Given the description of an element on the screen output the (x, y) to click on. 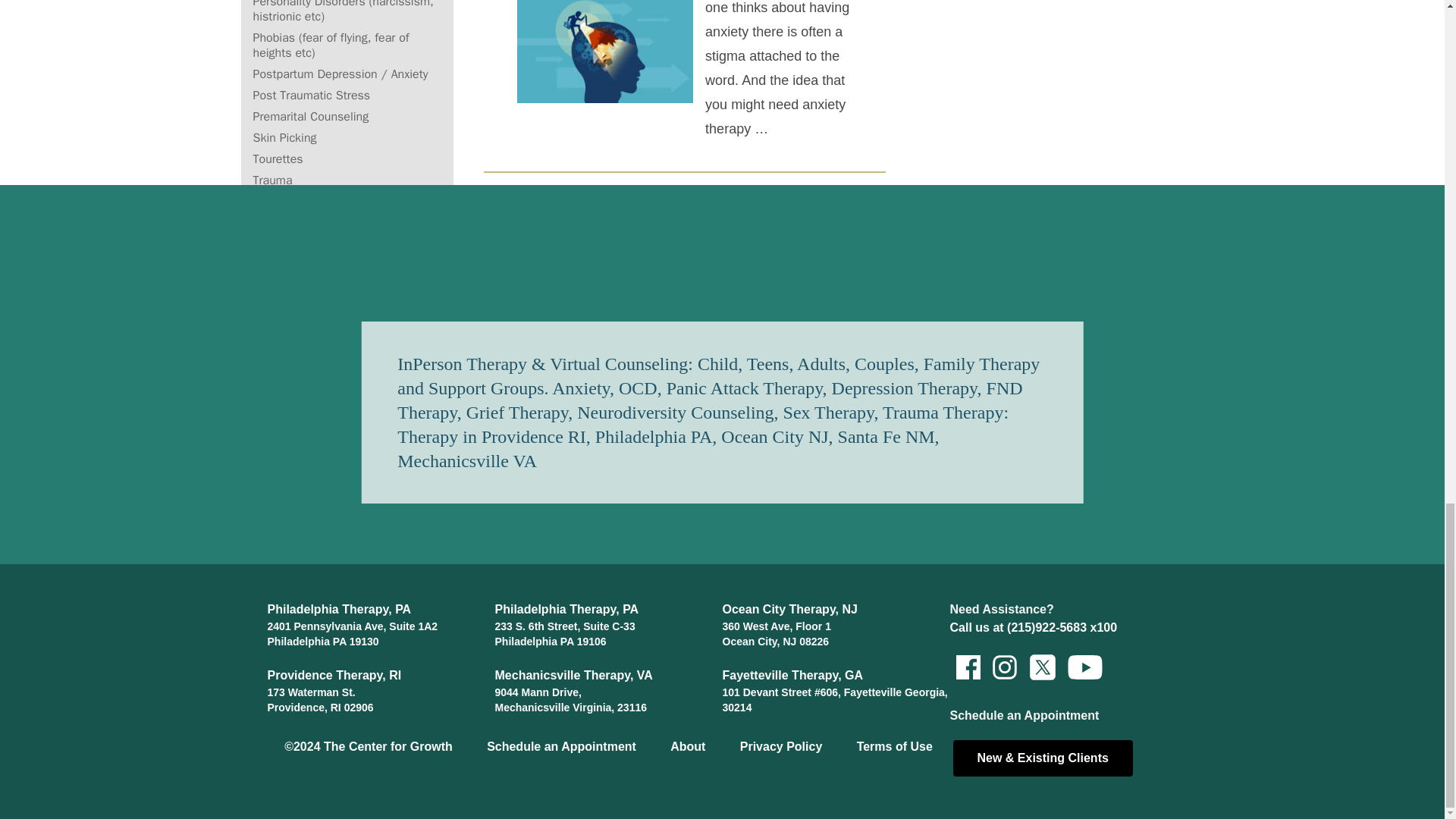
The Center For Growth on Twitter (1040, 667)
The Center For Growth on Facebook (967, 667)
The Center For Growth on Instagram (1003, 667)
The Center For Growth on YouTube (1076, 667)
